Given the description of an element on the screen output the (x, y) to click on. 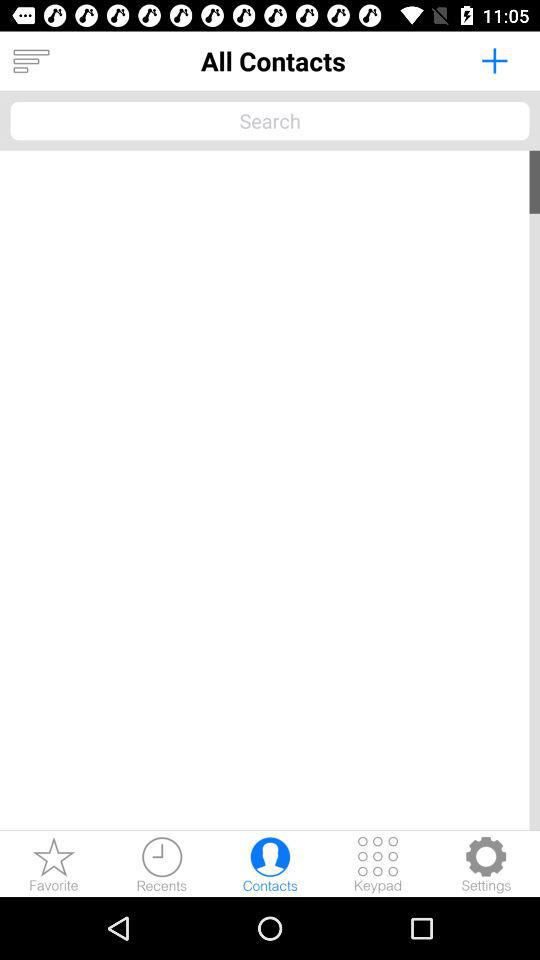
search contacts (270, 120)
